Given the description of an element on the screen output the (x, y) to click on. 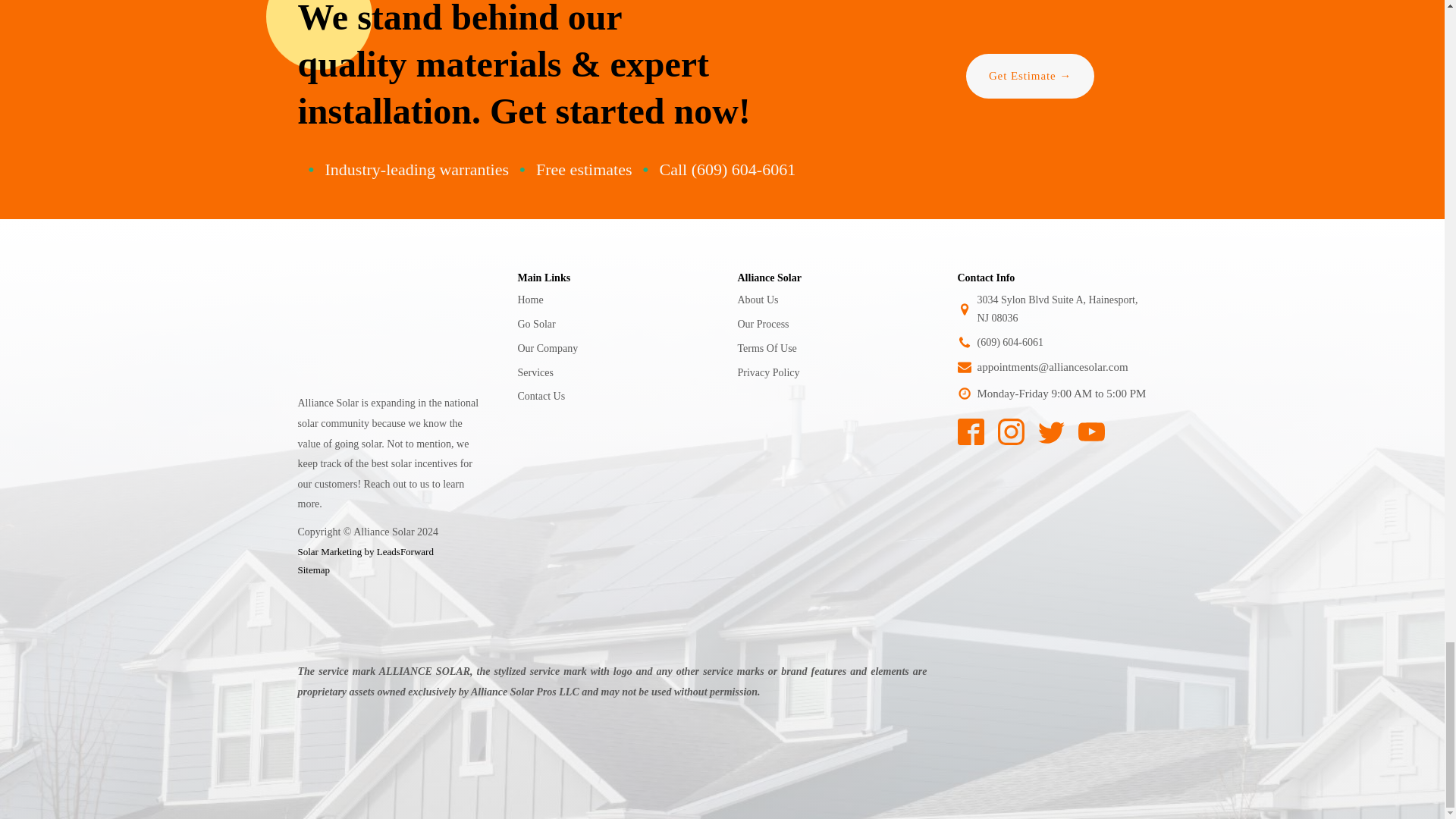
Solar Marketing by LeadsForward (364, 551)
Go Solar (535, 324)
Sitemap (313, 570)
Home (529, 300)
